Given the description of an element on the screen output the (x, y) to click on. 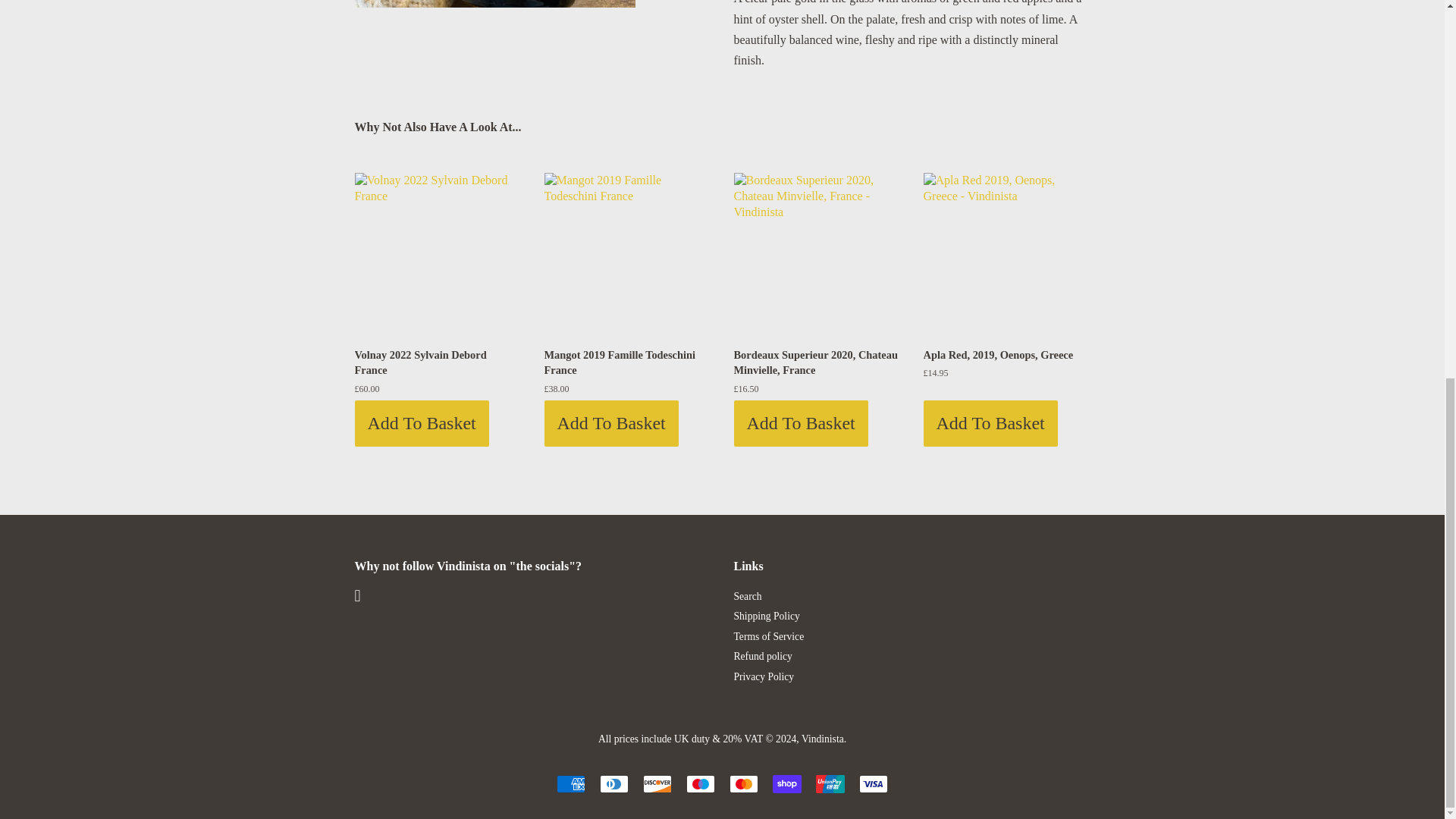
Shipping Policy (766, 615)
Search (747, 595)
Add To Basket (422, 423)
Union Pay (829, 783)
Shop Pay (787, 783)
Terms of Service (769, 636)
Add To Basket (800, 423)
Refund policy (762, 655)
Mastercard (743, 783)
Add To Basket (990, 423)
Privacy Policy (763, 676)
Visa (873, 783)
Maestro (699, 783)
Discover (657, 783)
Vindinista (823, 738)
